Given the description of an element on the screen output the (x, y) to click on. 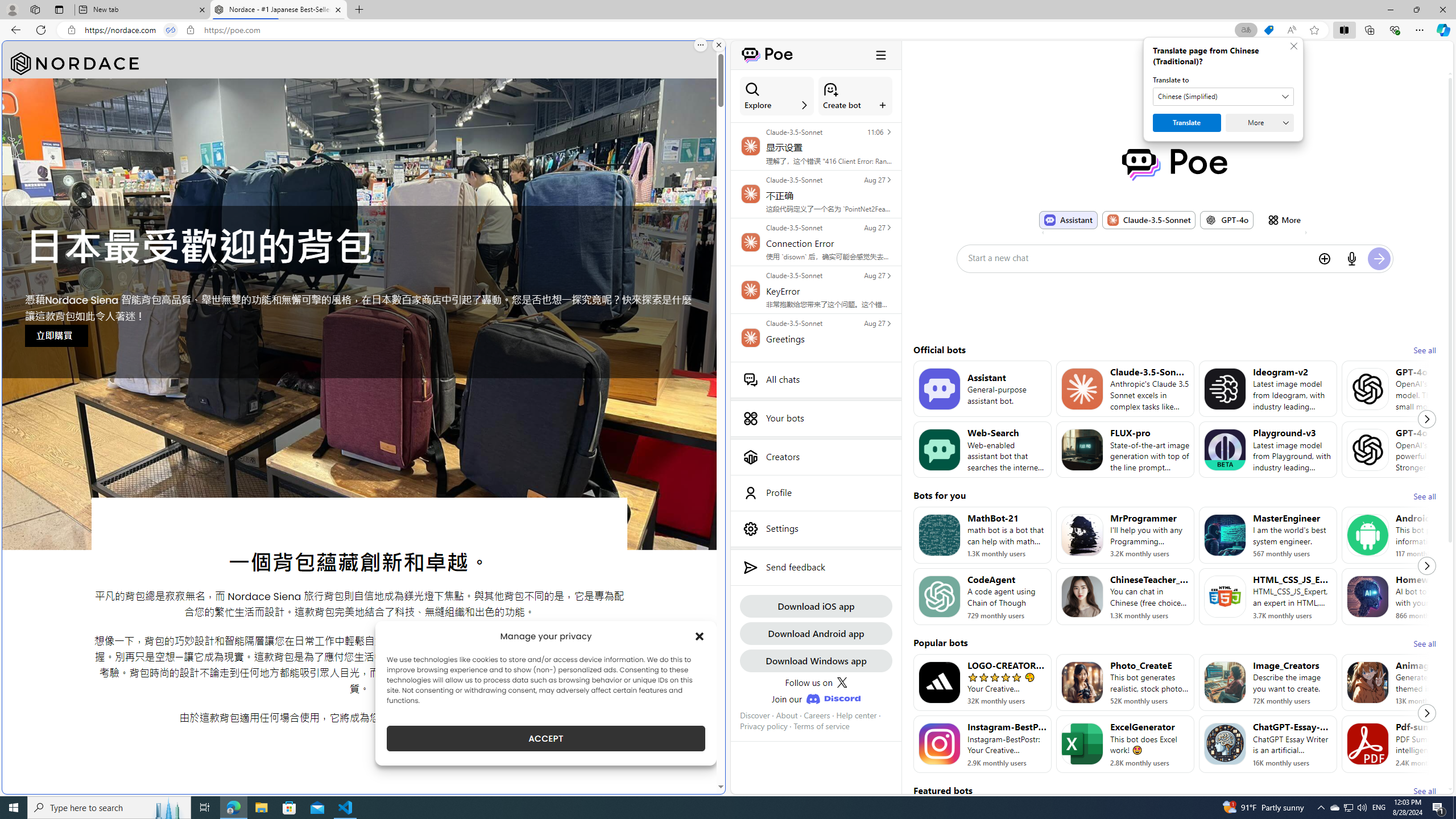
Bot image for Assistant (938, 388)
Translate to (1223, 96)
Bot image for Ideogram-v2 (1224, 388)
Class: ChatHistoryListItem_chevronIcon__zJZSN (888, 322)
Class: ManageBotsCardSection_labelIcon__EjW_j (882, 104)
Bot image for Assistant Assistant (1068, 219)
Bot image for AnimagineXL (1367, 682)
Bot image for GPT-4o (1367, 449)
Poe (1174, 164)
